Given the description of an element on the screen output the (x, y) to click on. 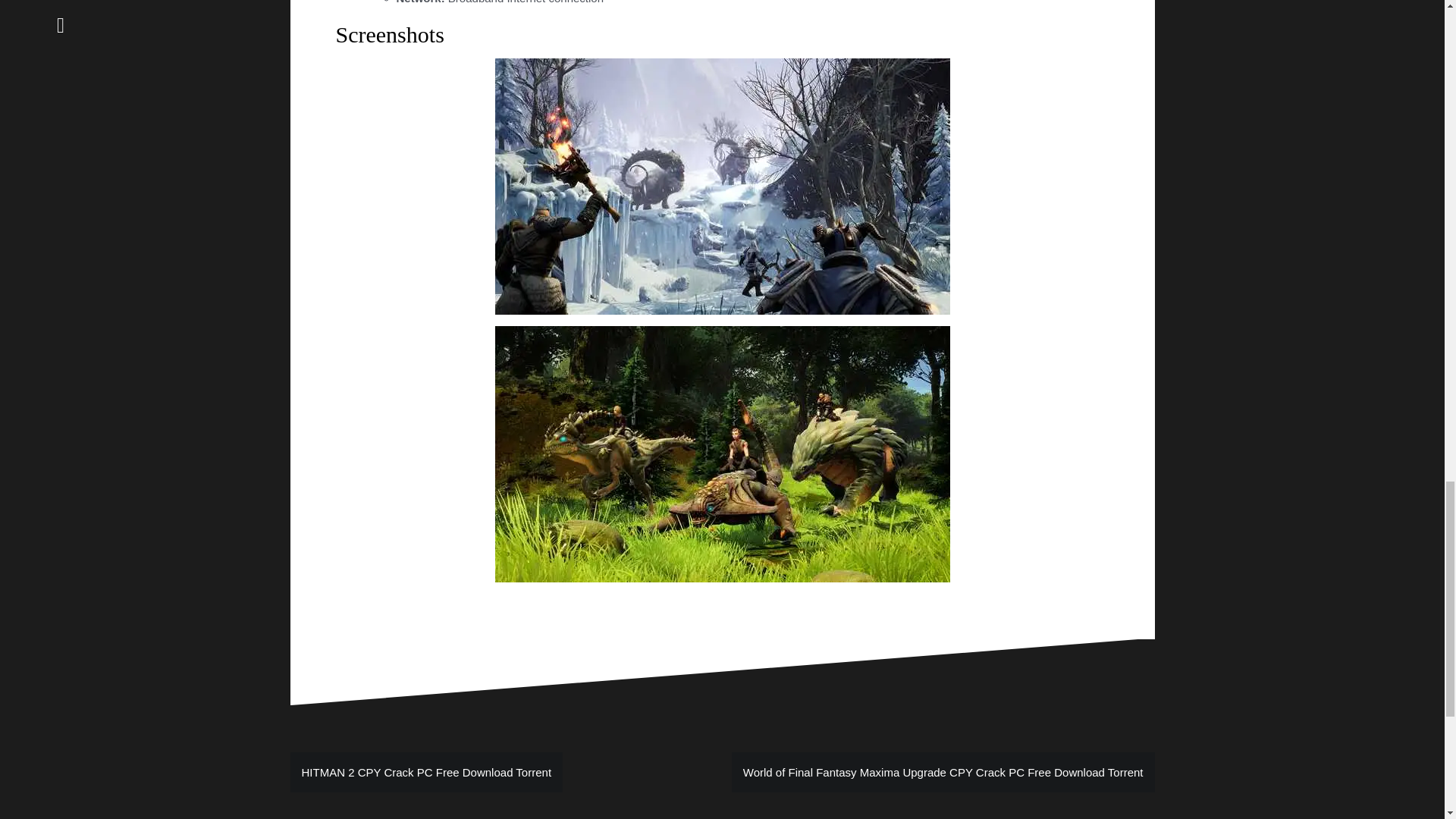
HITMAN 2 CPY Crack PC Free Download Torrent (426, 771)
